Given the description of an element on the screen output the (x, y) to click on. 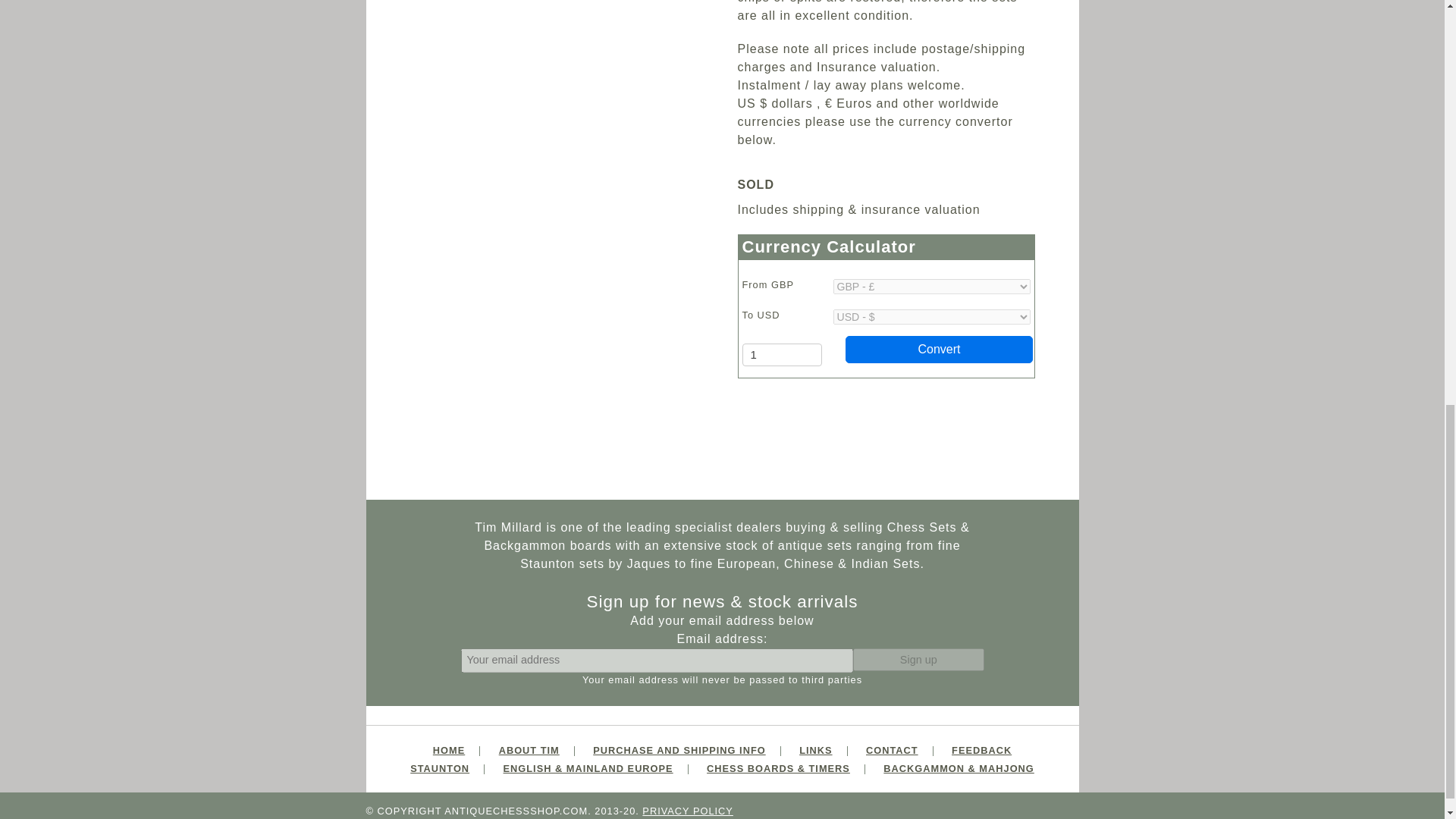
LINKS (815, 749)
1 (781, 354)
HOME (448, 749)
Convert (939, 349)
Sign up (918, 659)
FEEDBACK (981, 749)
Sign up (918, 659)
CONTACT (892, 749)
STAUNTON (439, 767)
PURCHASE AND SHIPPING INFO (678, 749)
ABOUT TIM (529, 749)
